Given the description of an element on the screen output the (x, y) to click on. 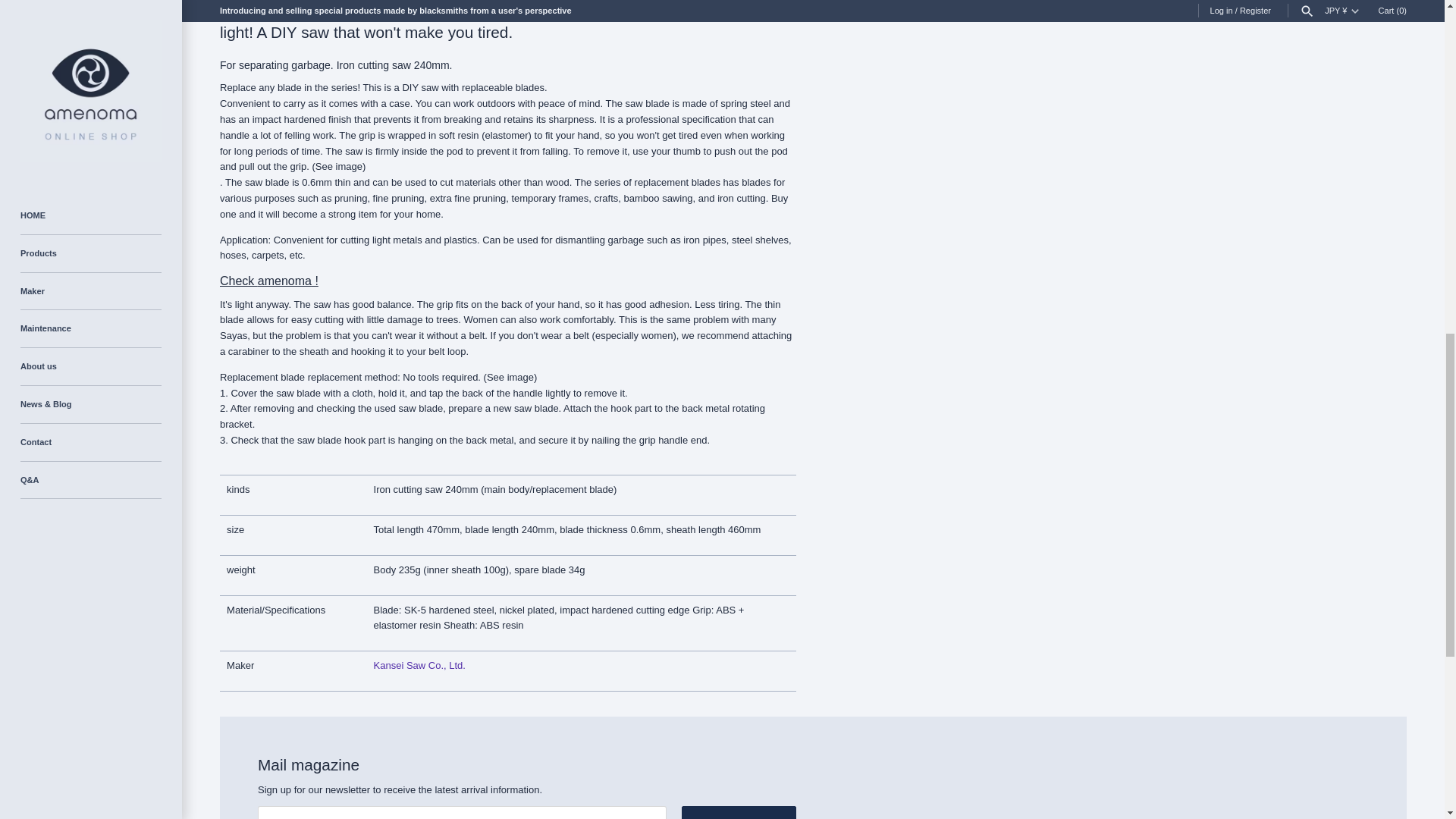
Kansai saw, Yamakichi, shuriken, grass flute, tipped saw (419, 665)
